Given the description of an element on the screen output the (x, y) to click on. 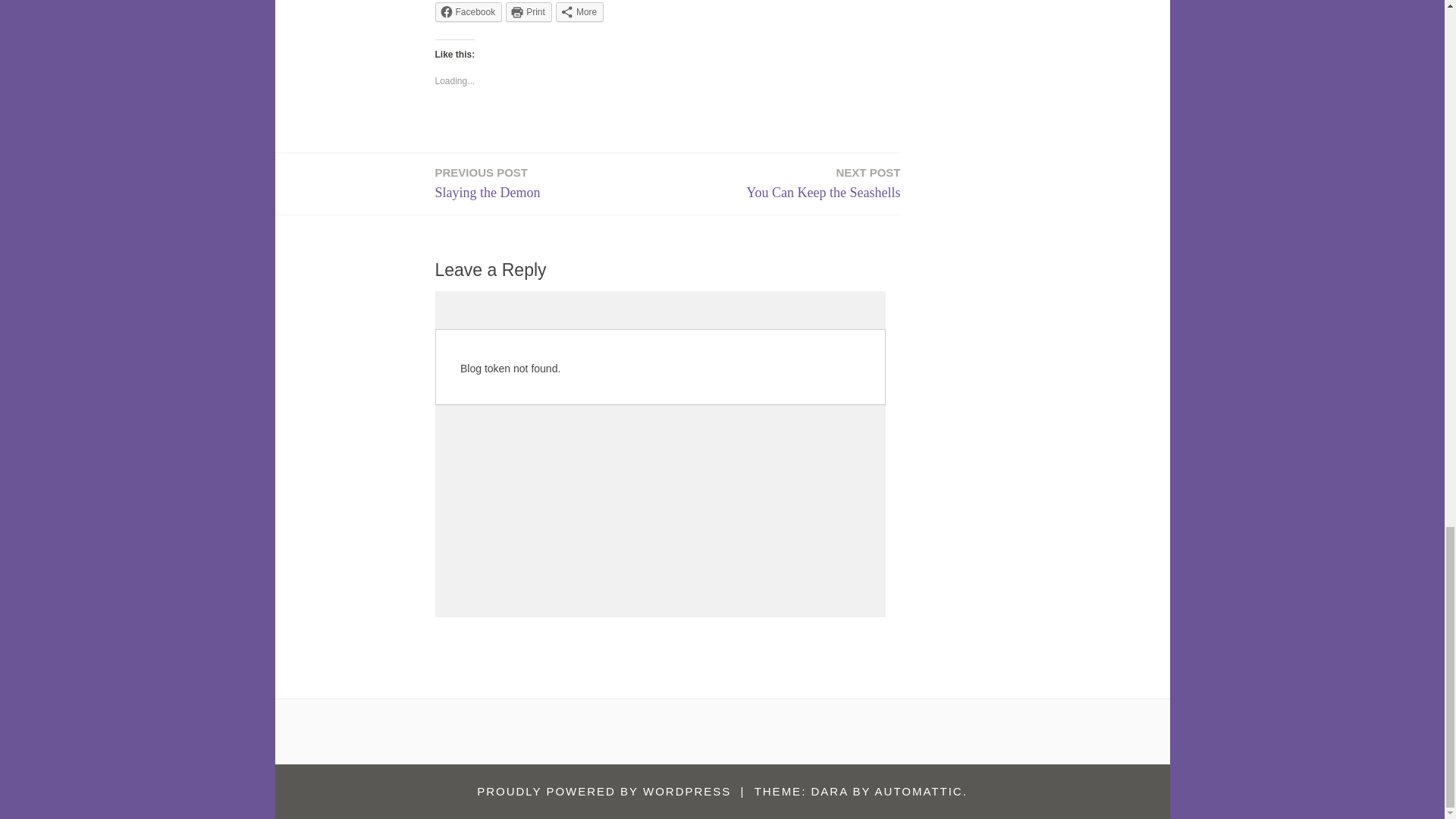
Click to print (528, 12)
More (580, 12)
Print (528, 12)
Facebook (468, 12)
Click to share on Facebook (468, 12)
